Given the description of an element on the screen output the (x, y) to click on. 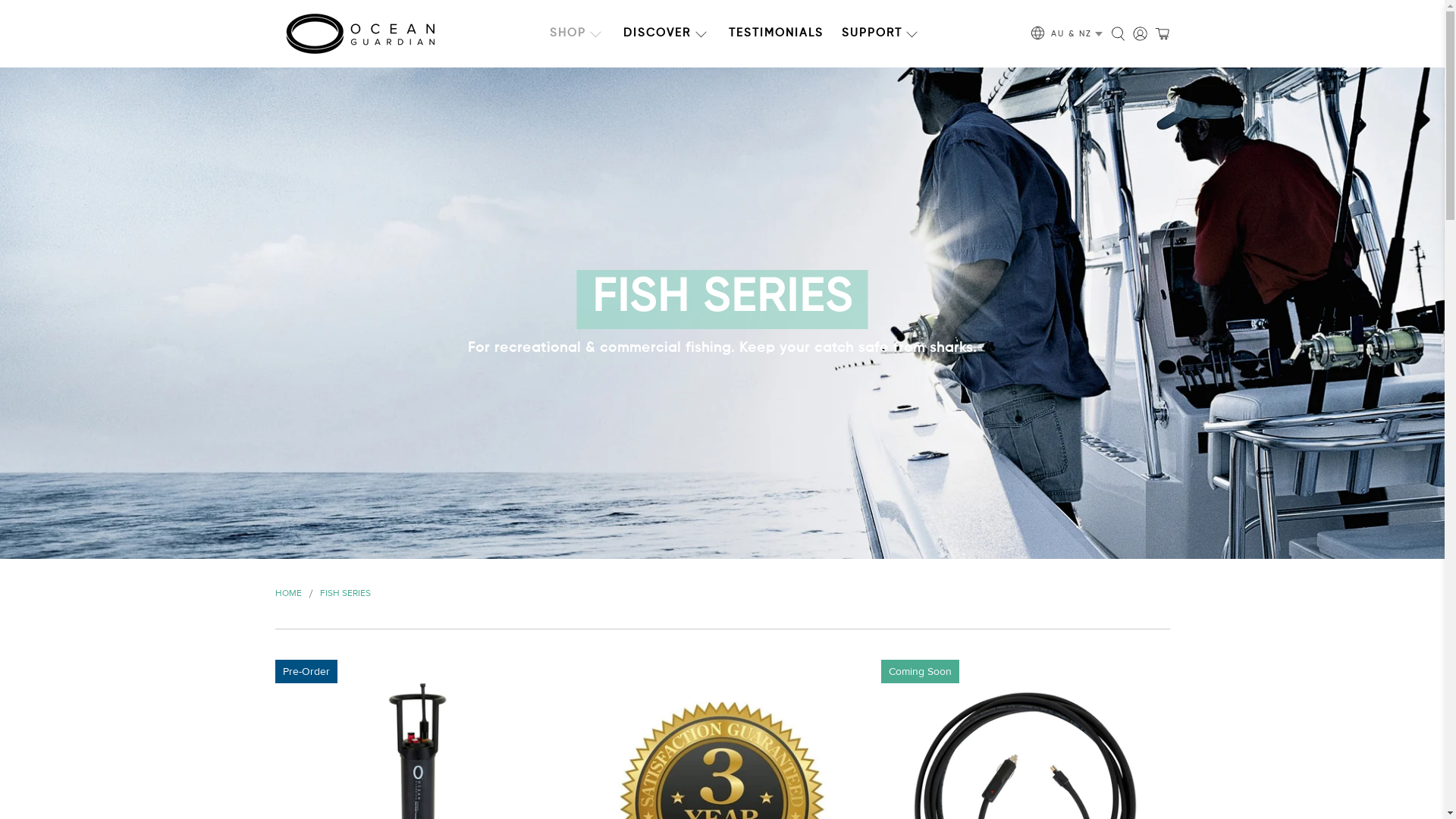
SHOP Element type: text (577, 33)
DISCOVER Element type: text (666, 33)
TESTIMONIALS Element type: text (775, 33)
SUPPORT Element type: text (881, 33)
HOME Element type: text (287, 593)
Ocean Guardian | Shark Shield Element type: hover (359, 33)
FISH SERIES Element type: text (345, 593)
